Given the description of an element on the screen output the (x, y) to click on. 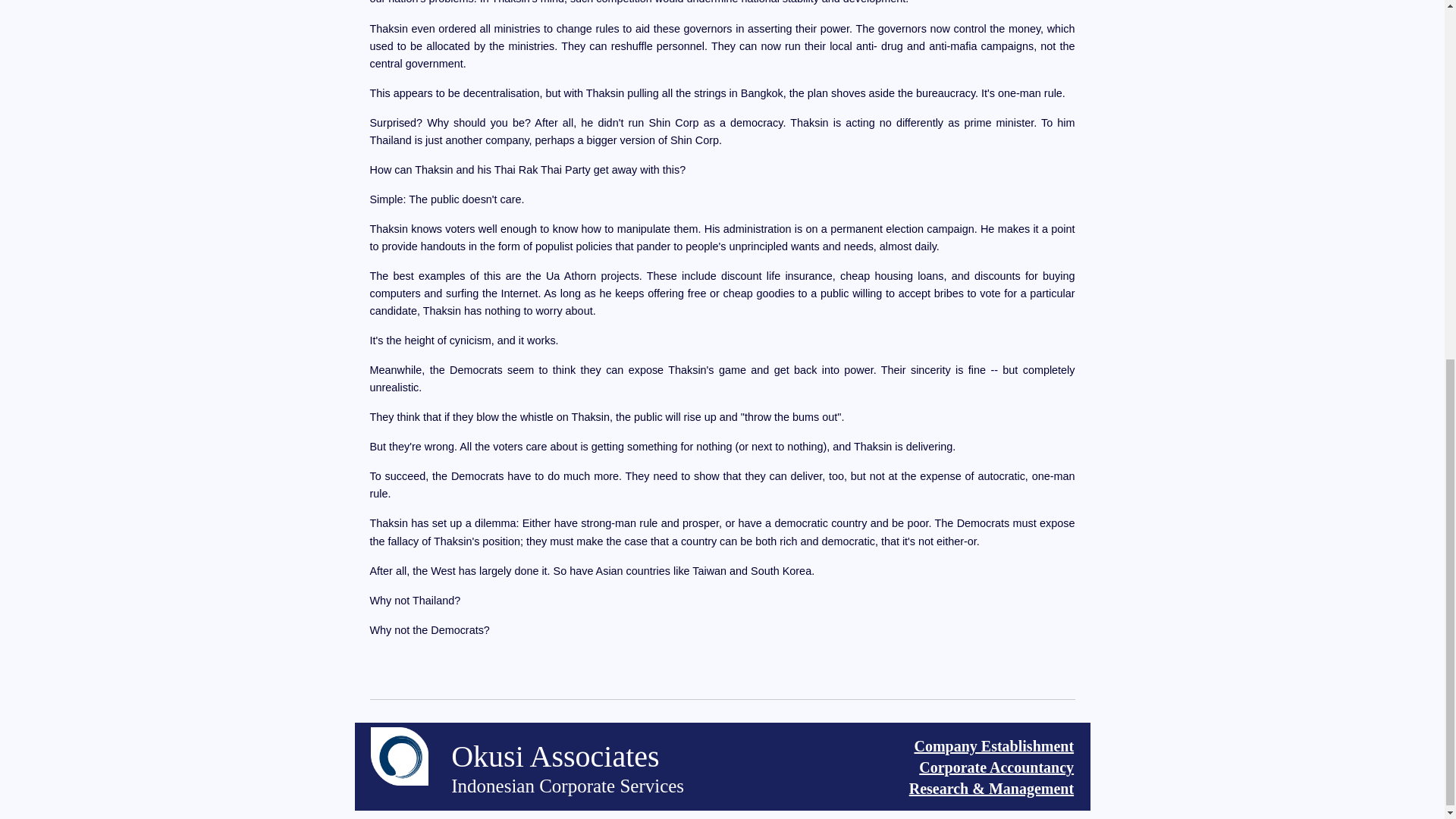
Okusi Associates - Jakarta - Batam - Bali (641, 767)
Company Establishment (641, 770)
Indonesian Corporate Accountancy (994, 745)
Okusi Associates - Jakarta - Batam - Bali (996, 767)
Indonesian Company Establishment (722, 766)
Corporate Accountancy (994, 745)
